Given the description of an element on the screen output the (x, y) to click on. 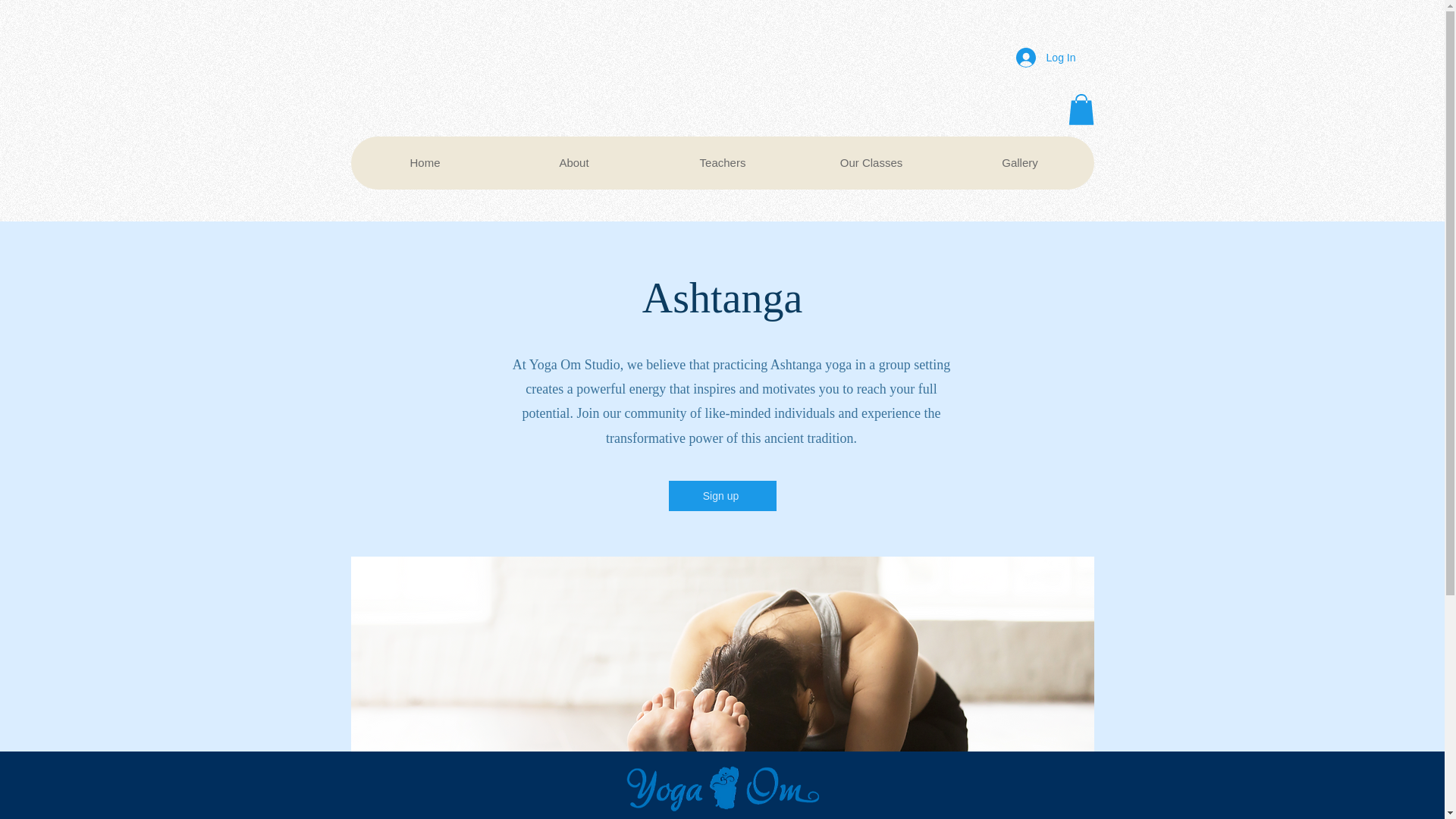
Home (424, 162)
Gallery (1018, 162)
Sign up (722, 495)
Our Classes (870, 162)
About (573, 162)
Teachers (721, 162)
Log In (1046, 57)
